Given the description of an element on the screen output the (x, y) to click on. 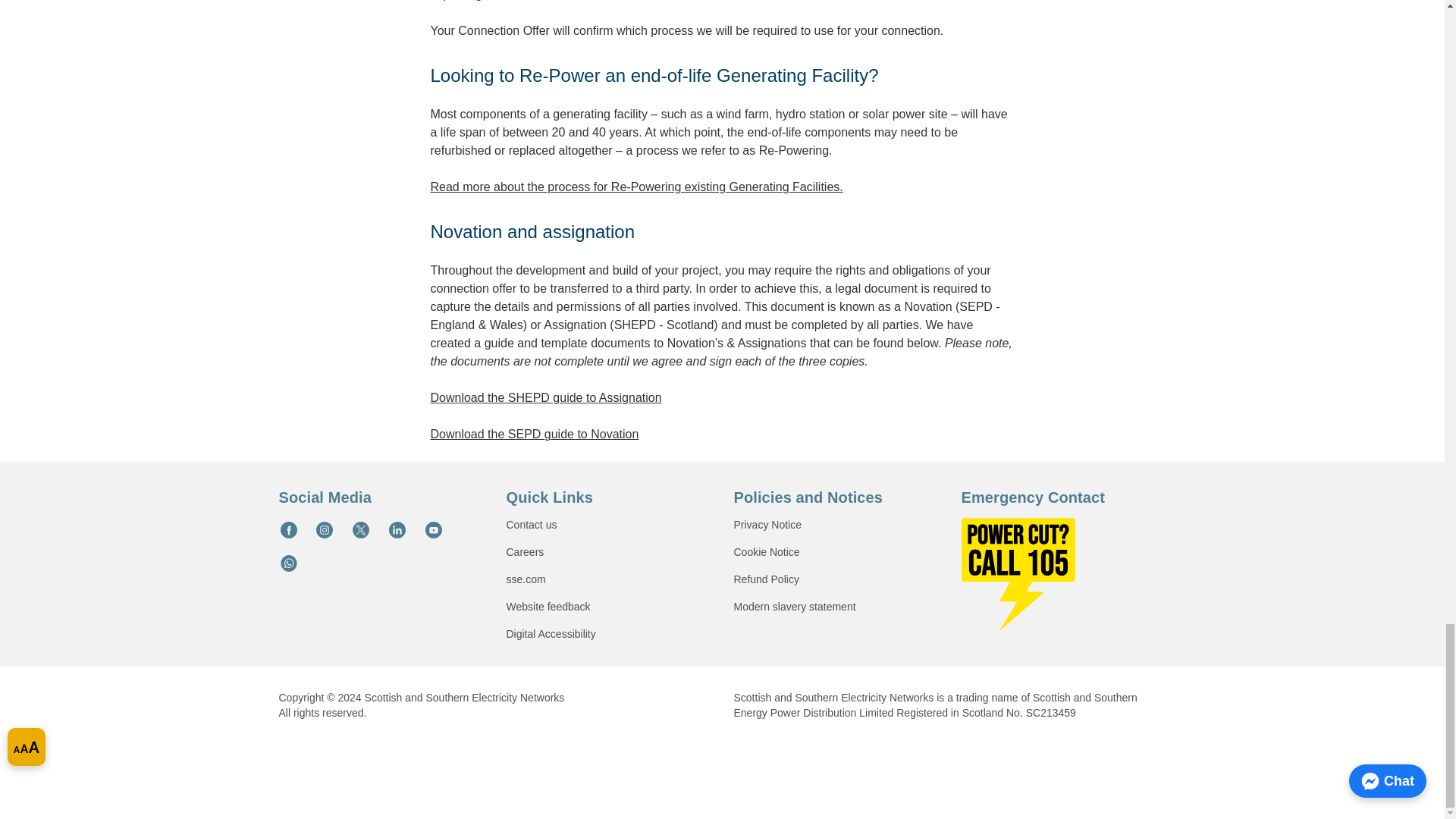
sse.com (526, 579)
Contact us (531, 524)
Cookie notice (766, 551)
Refund policy (766, 579)
Modern slavery statement PDF (794, 606)
Privacy notice (767, 524)
Download the SEPD guide to Novation (534, 434)
Download the SHEPD guide to Assignation (546, 398)
